Given the description of an element on the screen output the (x, y) to click on. 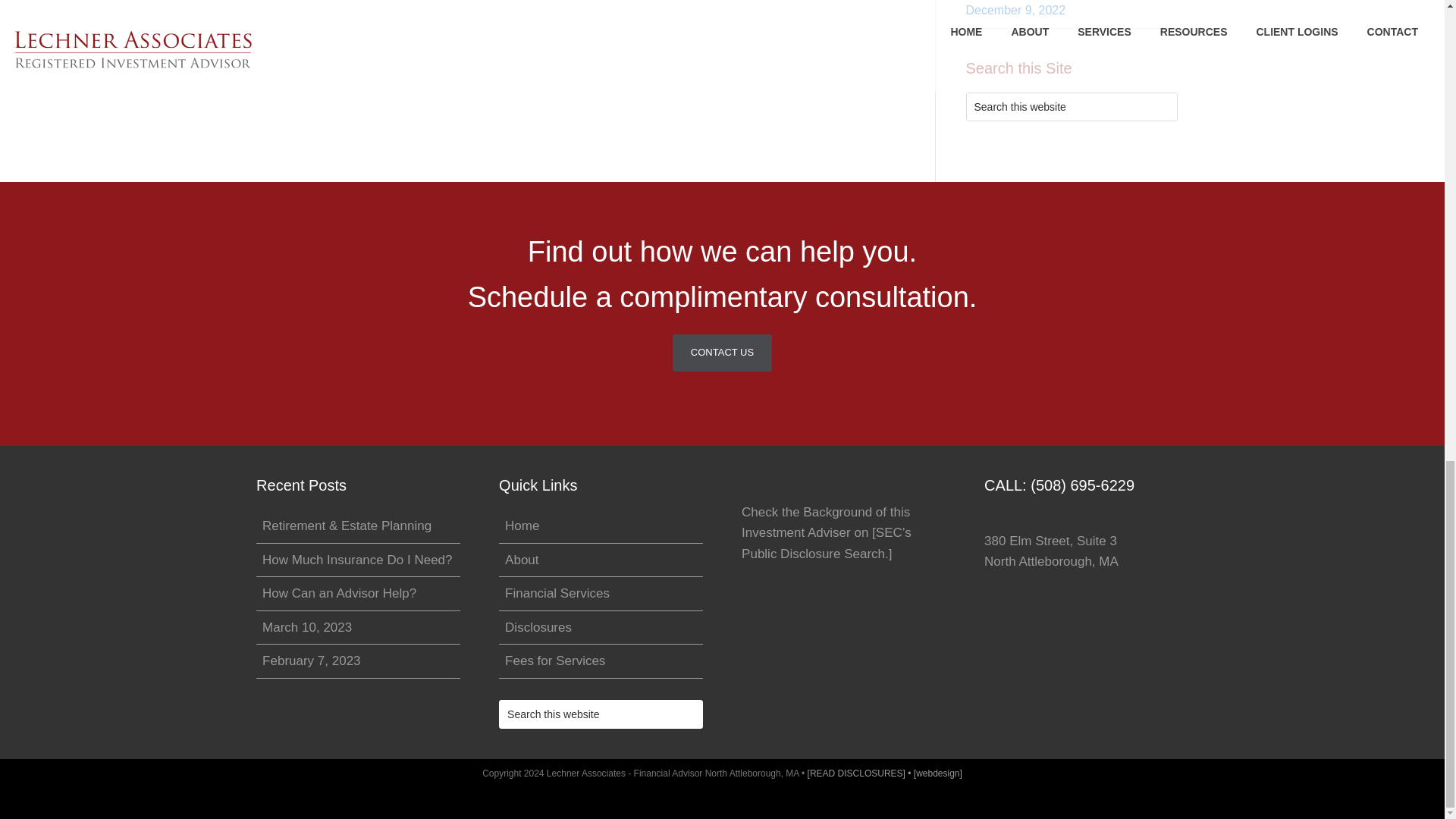
About (521, 559)
December 9, 2022 (1015, 10)
Financial Services (557, 593)
Disclosures (538, 626)
March 10, 2023 (307, 626)
CONTACT US (721, 352)
How Can an Advisor Help? (339, 593)
